Given the description of an element on the screen output the (x, y) to click on. 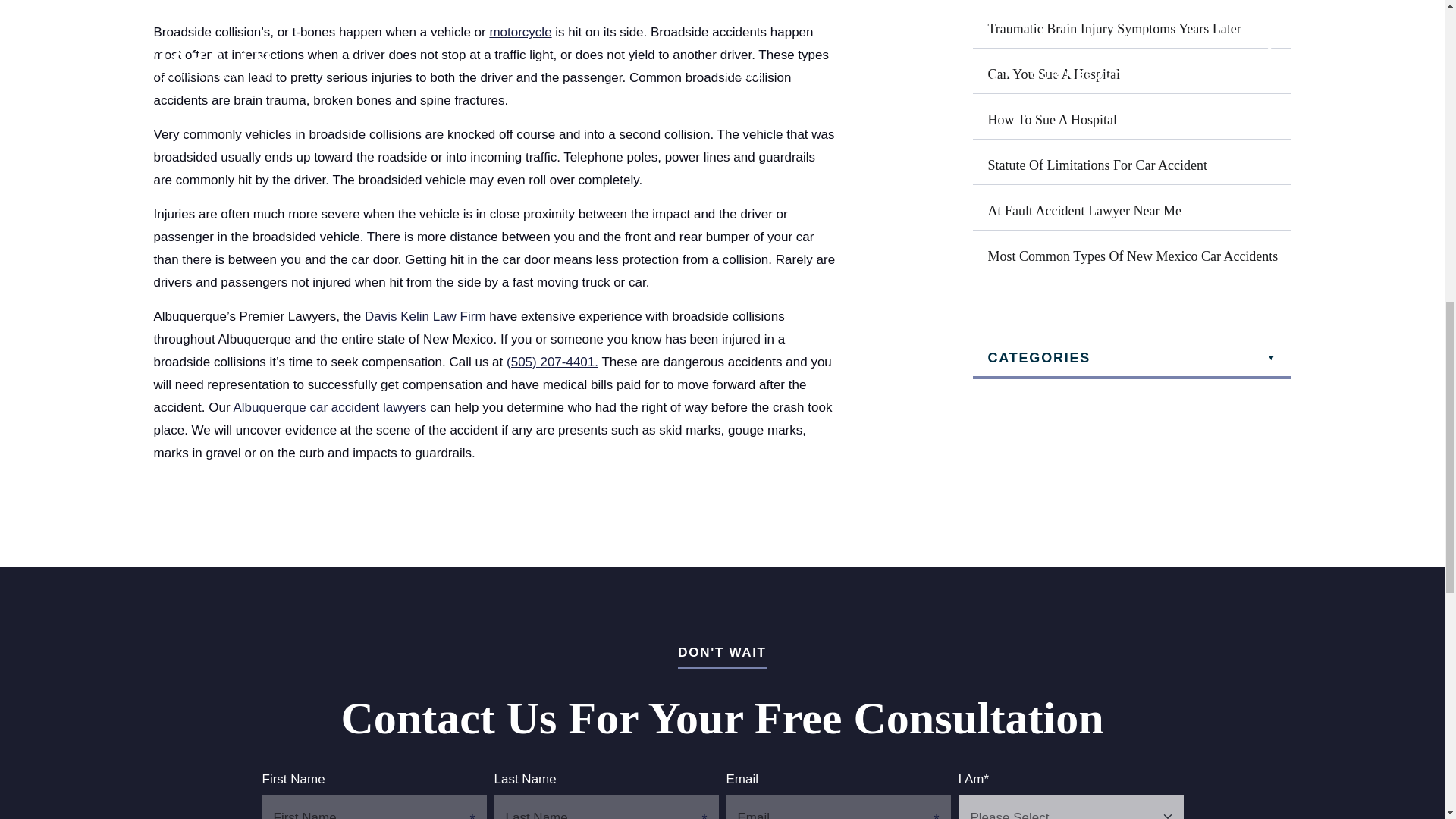
motorcycle (520, 32)
Davis Kelin Law Firm (425, 316)
Albuquerque car accident lawyers (329, 407)
